Given the description of an element on the screen output the (x, y) to click on. 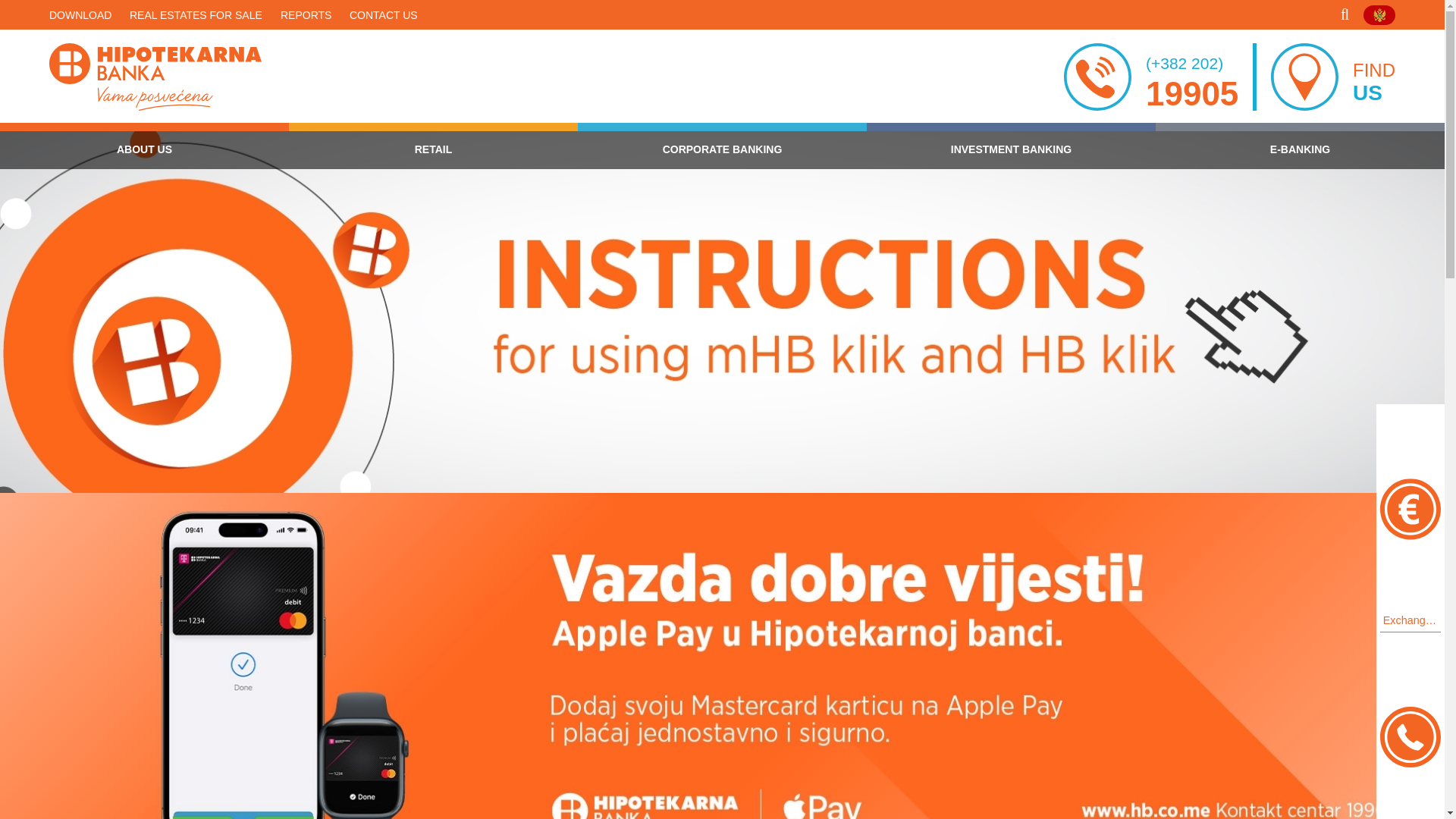
Download (80, 15)
REAL ESTATES FOR SALE (195, 15)
DOWNLOAD (80, 15)
Real estates for sale (195, 15)
Search (1326, 76)
REPORTS (1346, 14)
Contact us (306, 15)
CONTACT US (383, 15)
RETAIL (383, 15)
